Given the description of an element on the screen output the (x, y) to click on. 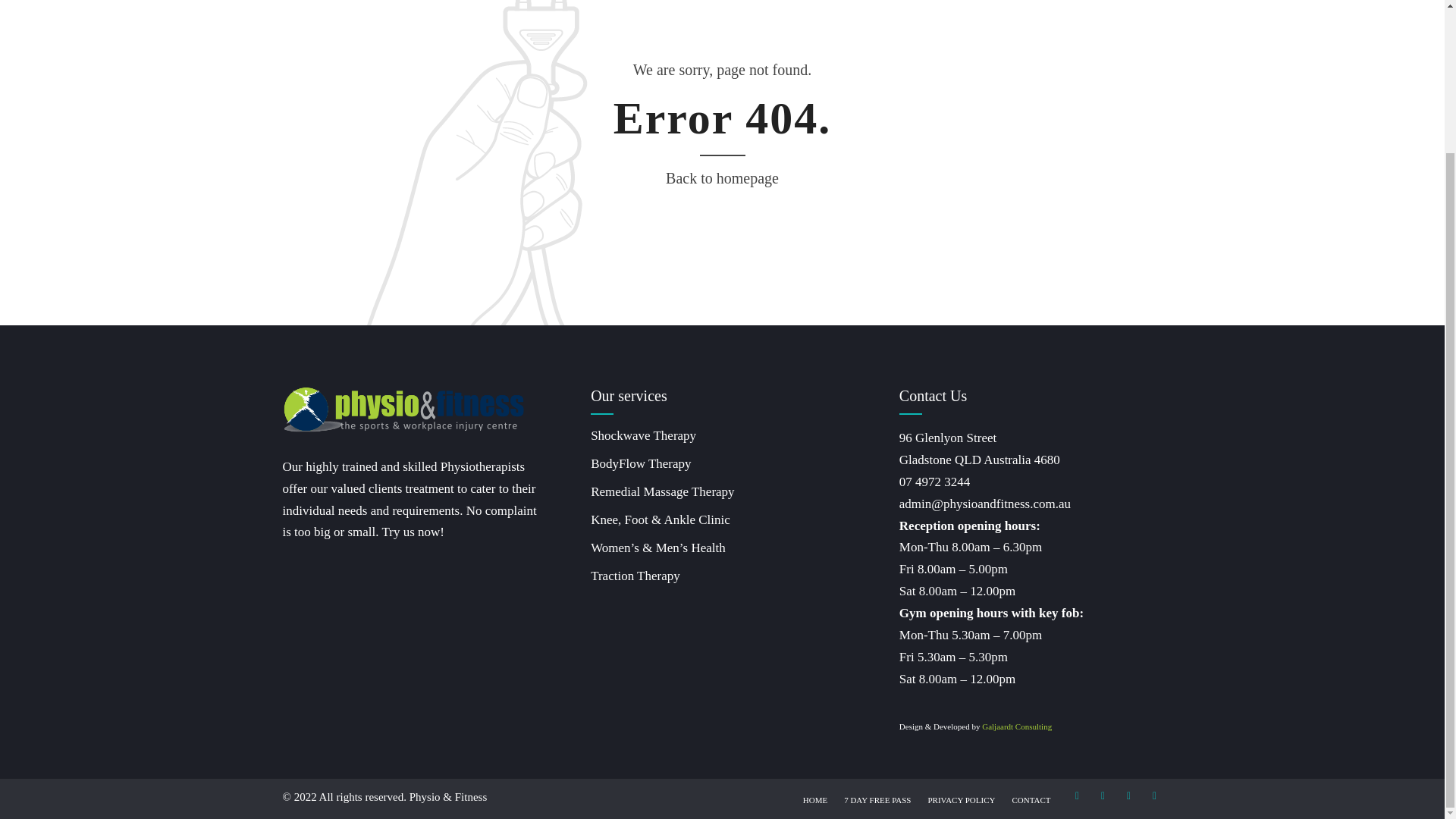
Back to homepage (721, 178)
Remedial Massage Therapy (662, 491)
Shockwave Therapy (643, 435)
BodyFlow Therapy (640, 463)
